Given the description of an element on the screen output the (x, y) to click on. 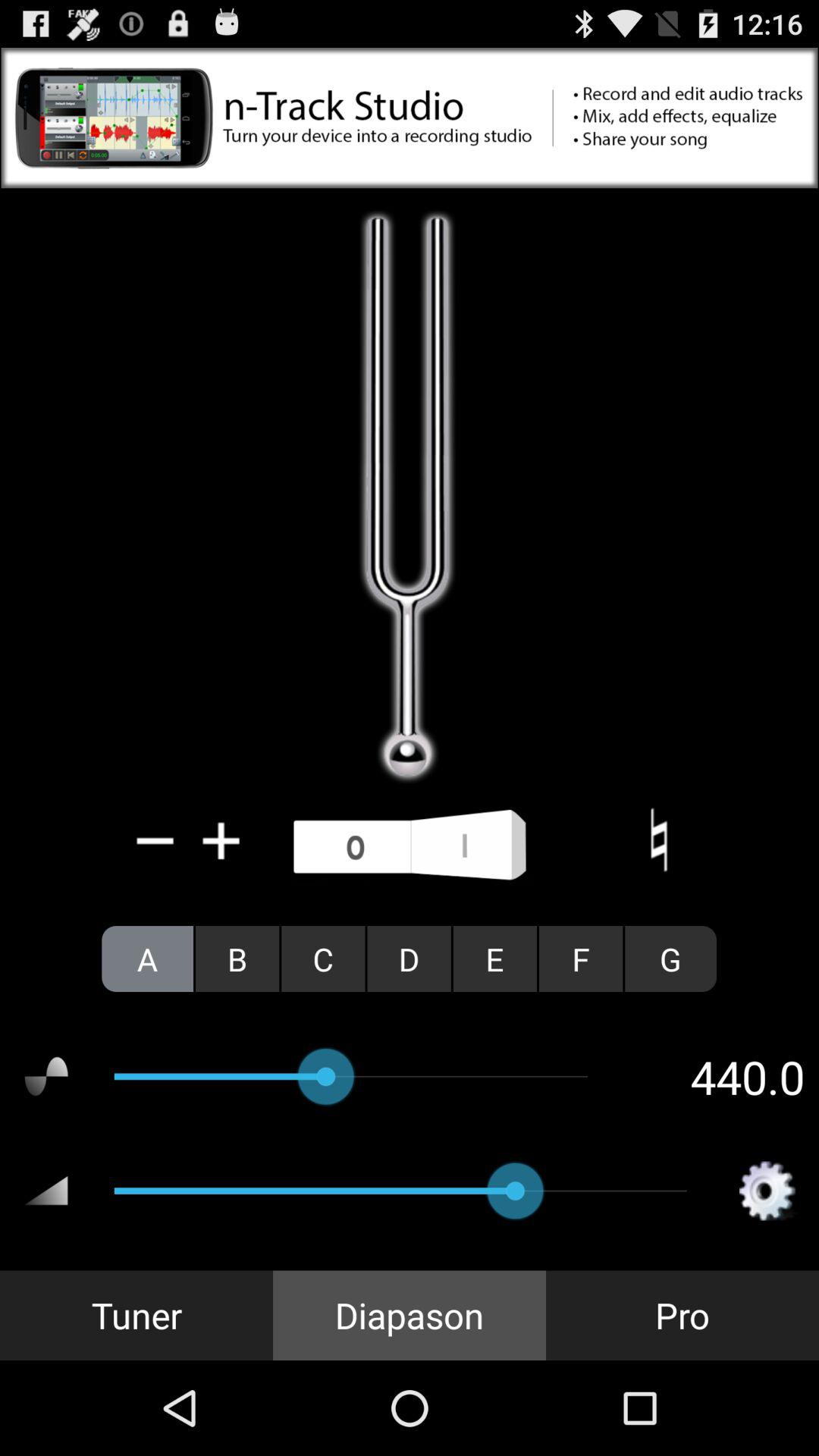
go to advertisement (409, 117)
